Given the description of an element on the screen output the (x, y) to click on. 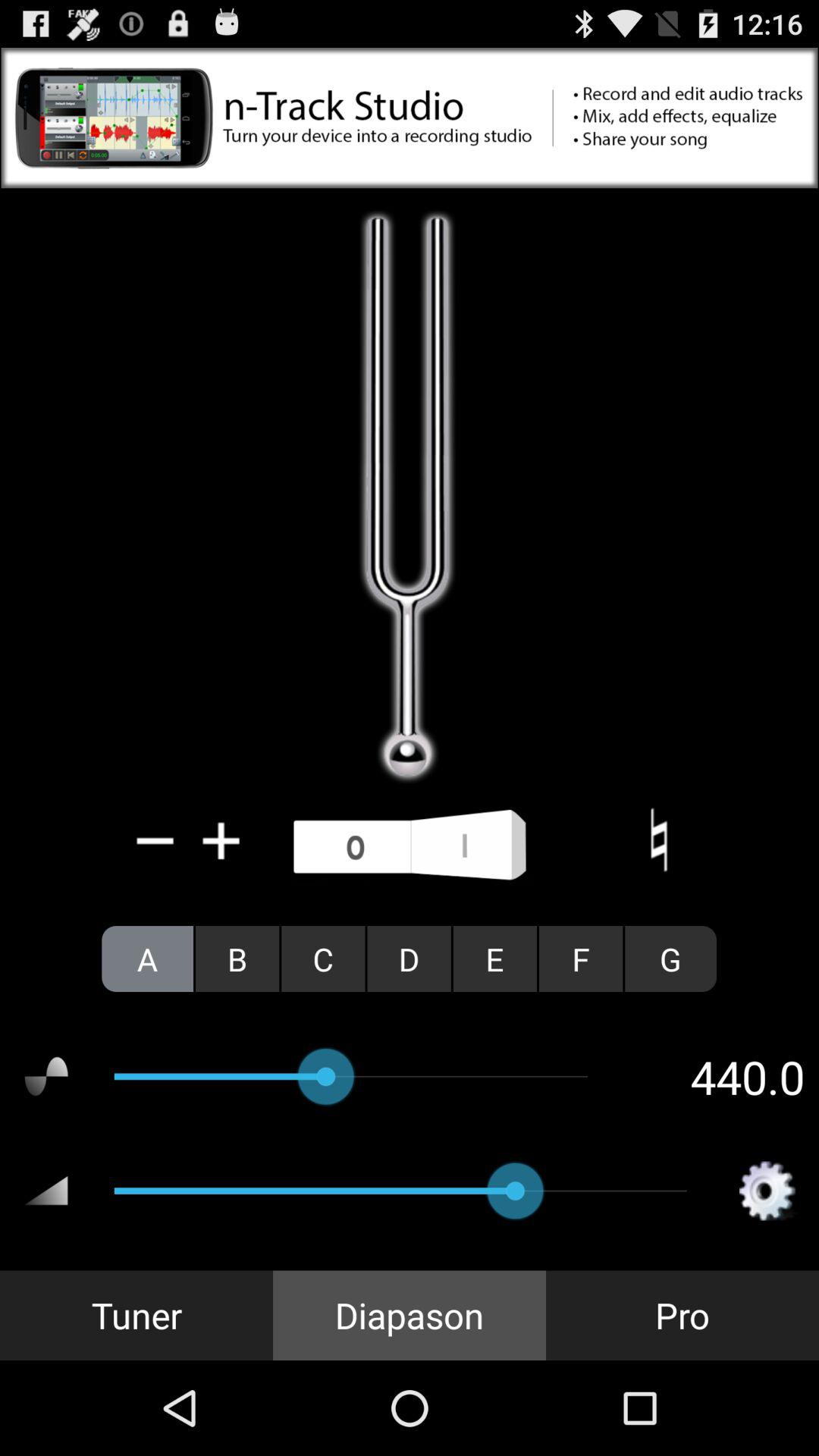
go to advertisement (409, 117)
